Given the description of an element on the screen output the (x, y) to click on. 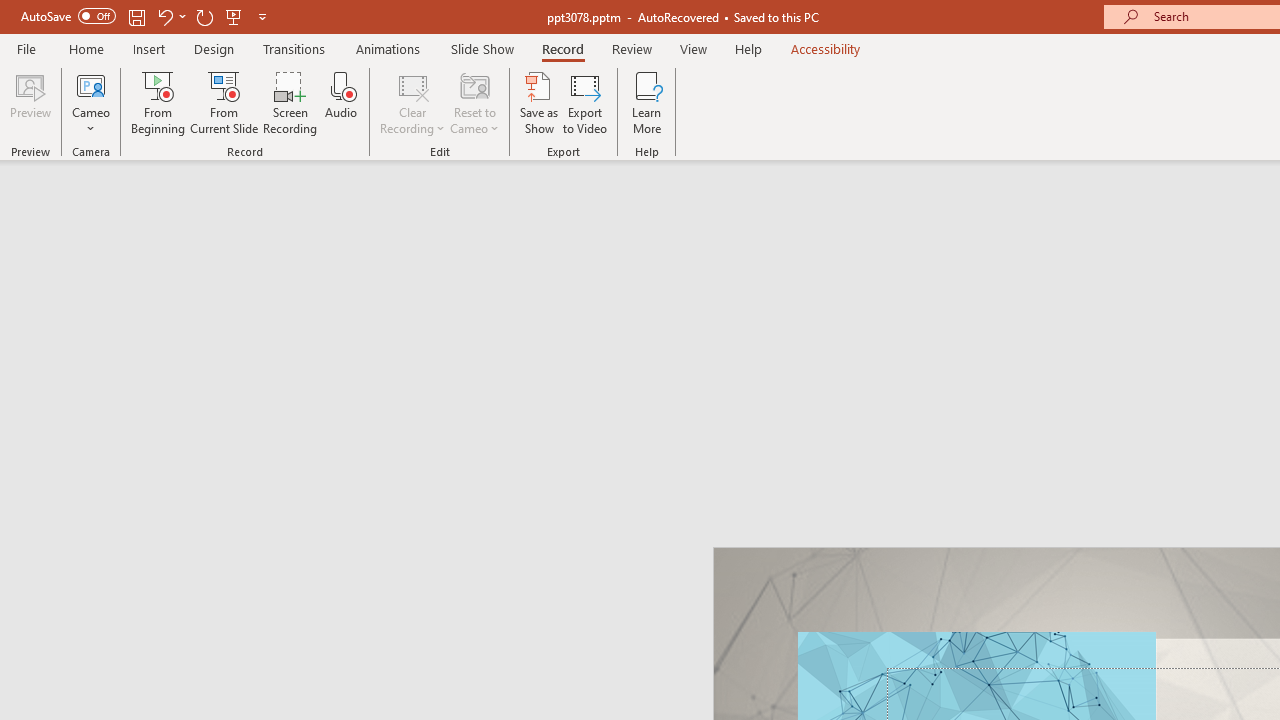
Export to Video (585, 102)
